Given the description of an element on the screen output the (x, y) to click on. 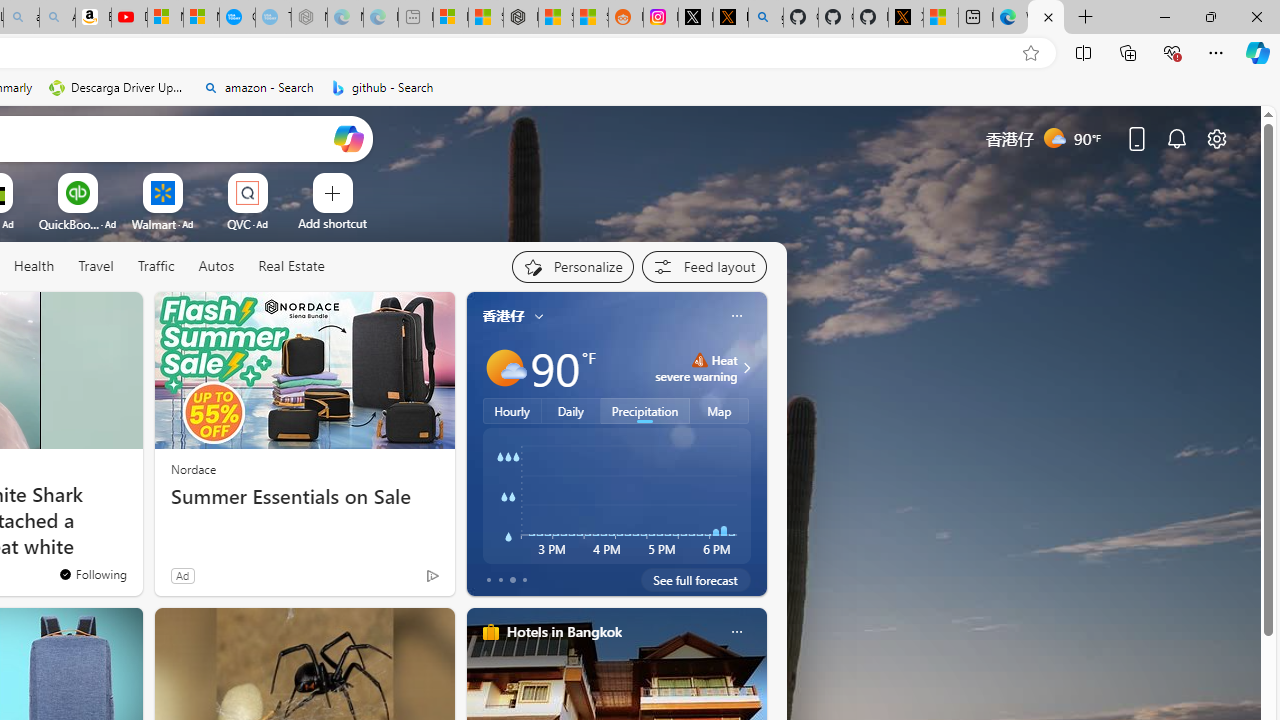
Precipitation (645, 411)
Heat - Severe Heat severe warning (696, 367)
tab-2 (511, 579)
Autos (215, 265)
Real Estate (290, 267)
Amazon Echo Dot PNG - Search Images - Sleeping (57, 17)
Summer Essentials on Sale (304, 497)
Hourly (511, 411)
help.x.com | 524: A timeout occurred (730, 17)
